Given the description of an element on the screen output the (x, y) to click on. 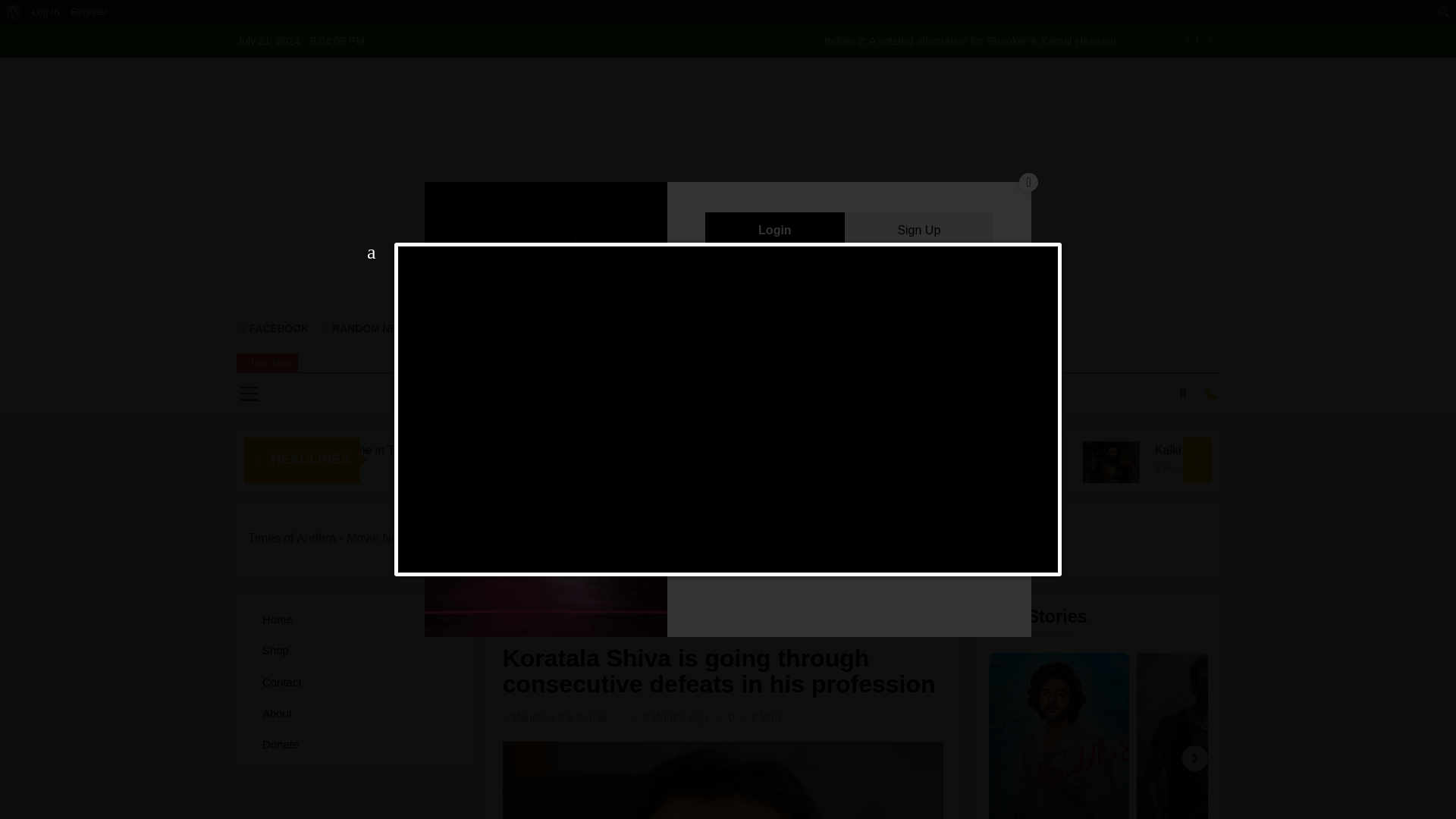
on (1212, 392)
Search (16, 12)
Live Now (266, 362)
Log In (45, 12)
FACEBOOK (274, 327)
forever (709, 404)
LANGUAGES (773, 393)
HOME (628, 393)
Register (89, 12)
LYRICS (689, 393)
3 Weeks Ago (355, 467)
RANDOM NEWS (368, 327)
